Given the description of an element on the screen output the (x, y) to click on. 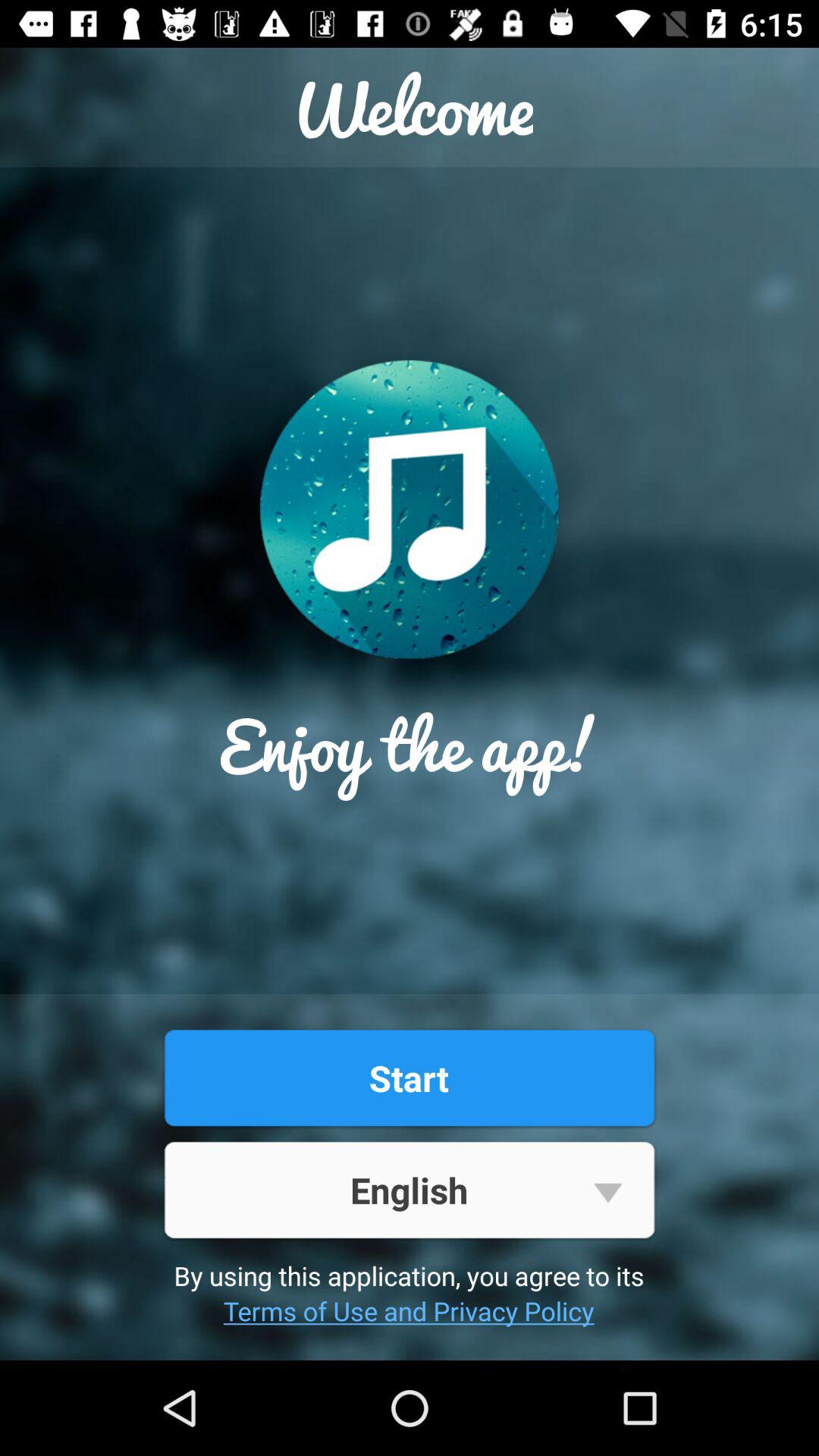
click start item (409, 1078)
